Given the description of an element on the screen output the (x, y) to click on. 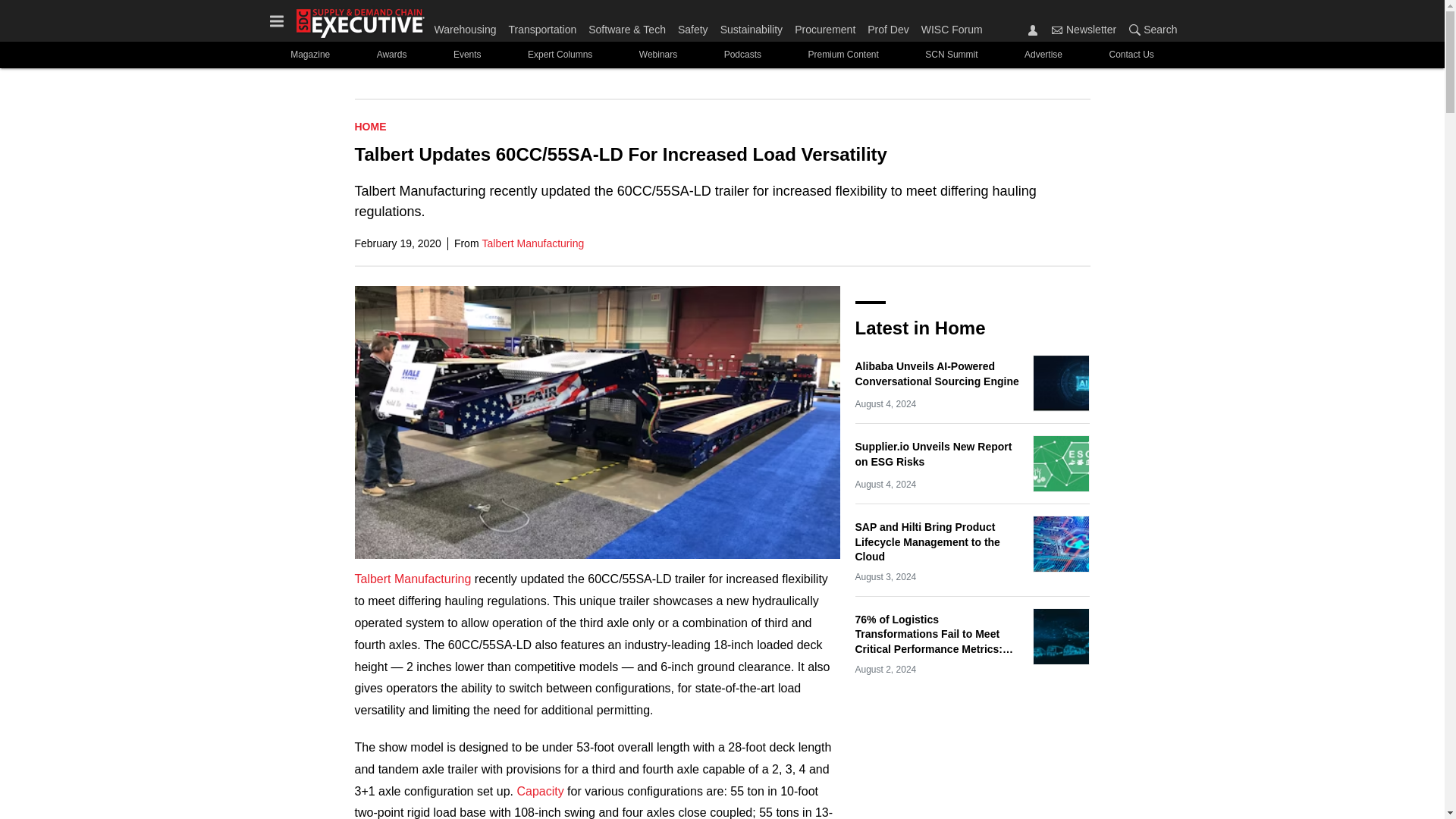
Prof Dev (887, 26)
Safety (692, 26)
WISC Forum (948, 26)
SCN Summit (951, 54)
Sustainability (751, 26)
Transportation (542, 26)
Magazine (309, 54)
Home (371, 126)
Podcasts (742, 54)
Events (466, 54)
Newsletter (1083, 29)
Premium Content (843, 54)
Procurement (825, 26)
Advertise (1042, 54)
Expert Columns (560, 54)
